Given the description of an element on the screen output the (x, y) to click on. 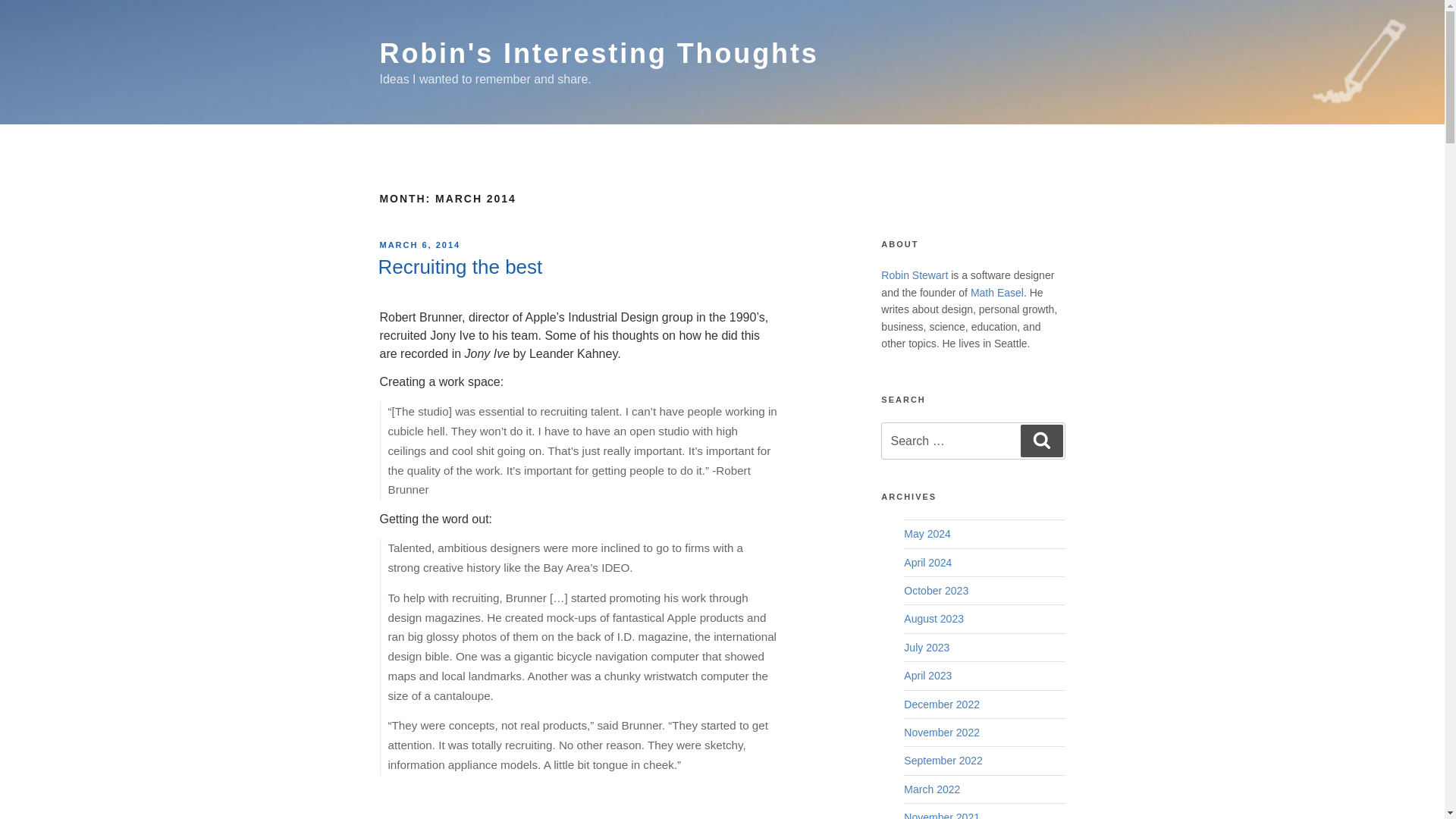
September 2022 (943, 760)
Recruiting the best (459, 266)
April 2024 (928, 562)
Robin Stewart (913, 275)
Math Easel (997, 292)
October 2023 (936, 590)
November 2021 (941, 815)
July 2023 (926, 647)
November 2022 (941, 732)
MARCH 6, 2014 (419, 244)
December 2022 (941, 704)
Robin'S Interesting Thoughts (598, 52)
August 2023 (933, 618)
April 2023 (928, 675)
March 2022 (931, 788)
